Given the description of an element on the screen output the (x, y) to click on. 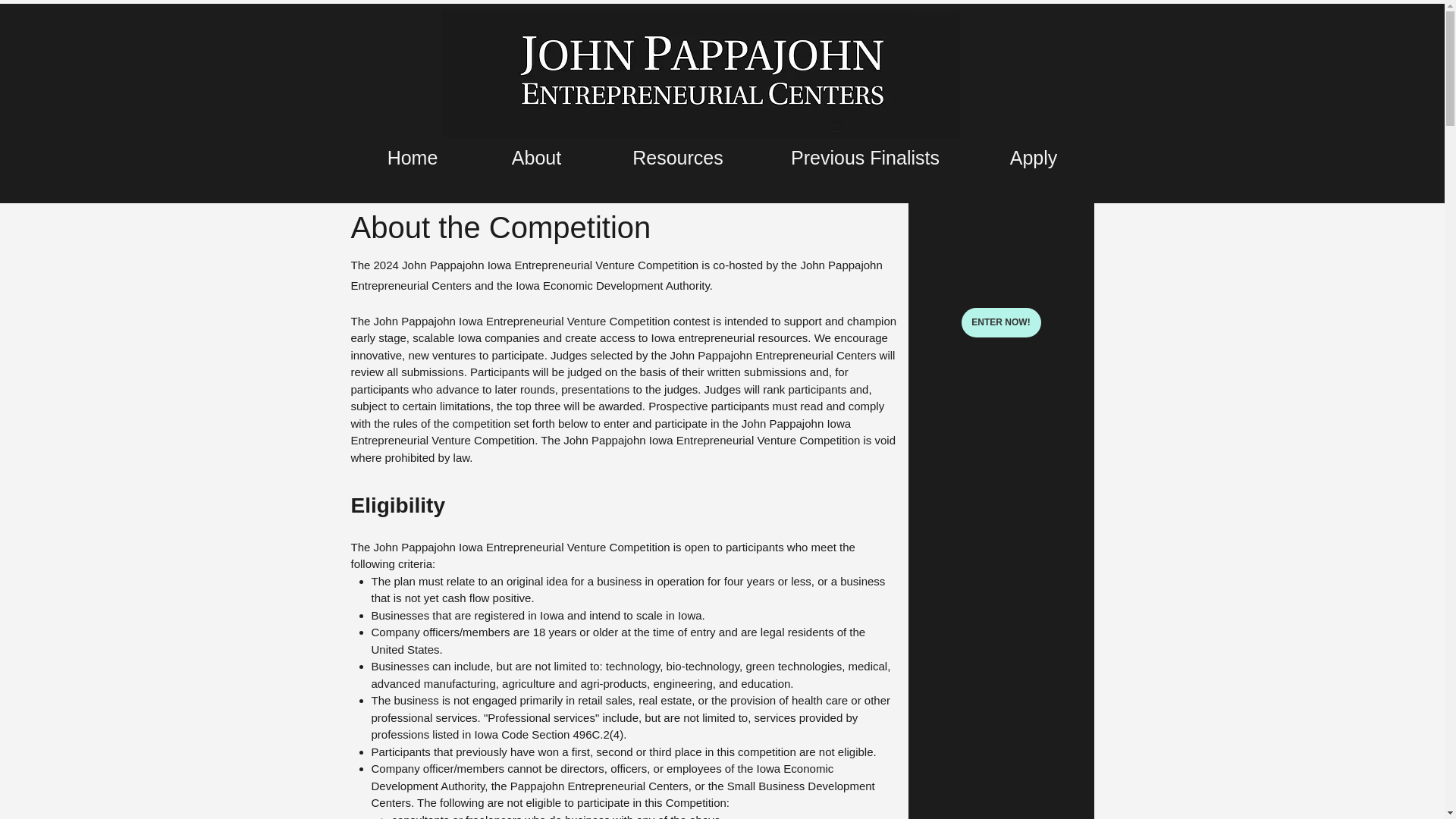
Apply (1034, 155)
About (536, 155)
Previous Finalists (864, 155)
Resources (677, 155)
Home (412, 155)
ENTER NOW! (1000, 322)
